Given the description of an element on the screen output the (x, y) to click on. 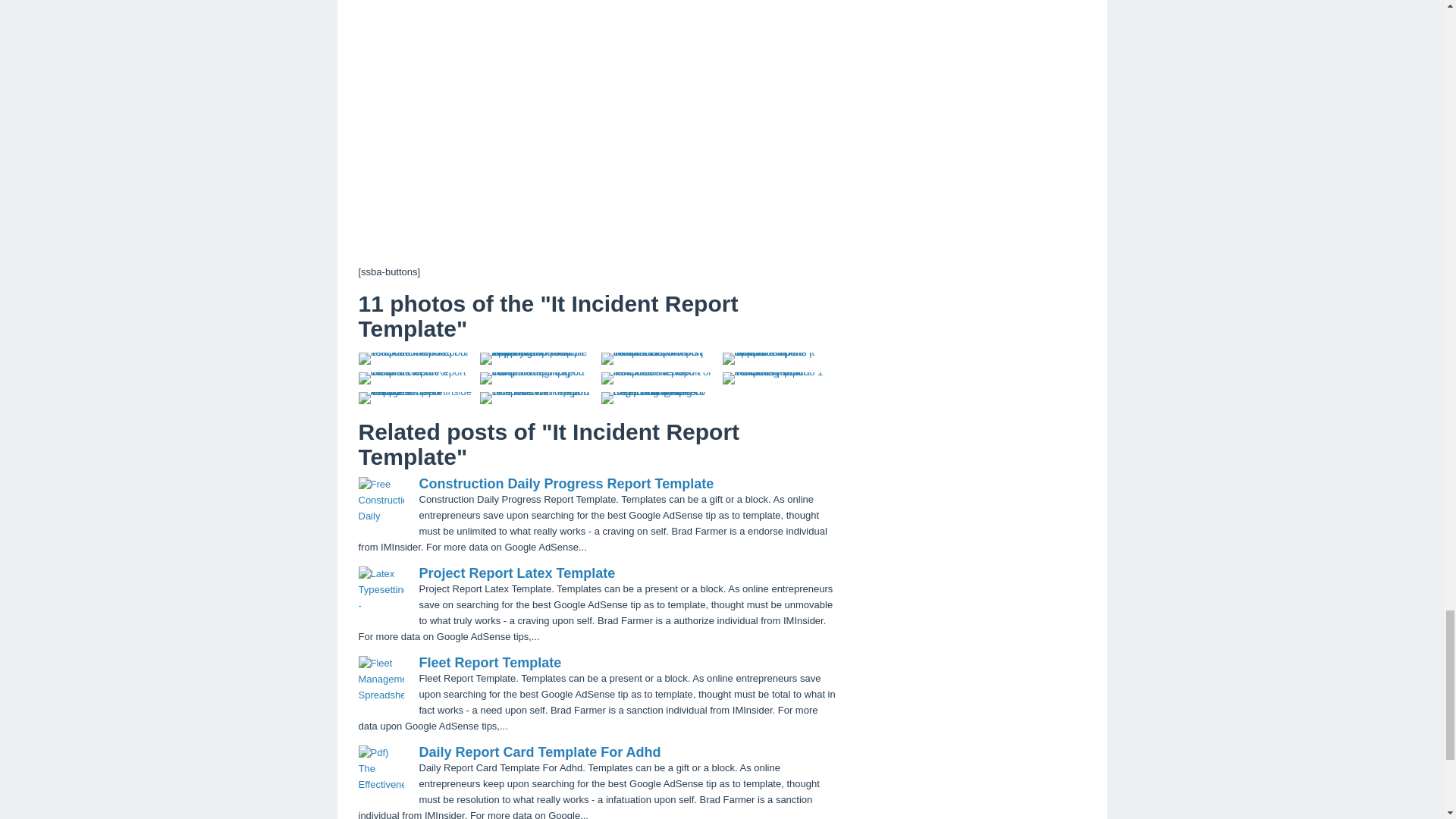
Construction Daily Progress Report Template (566, 483)
Project Report Latex Template (516, 572)
Daily Report Card Template For Adhd (540, 752)
Fleet Report Template (489, 662)
